Given the description of an element on the screen output the (x, y) to click on. 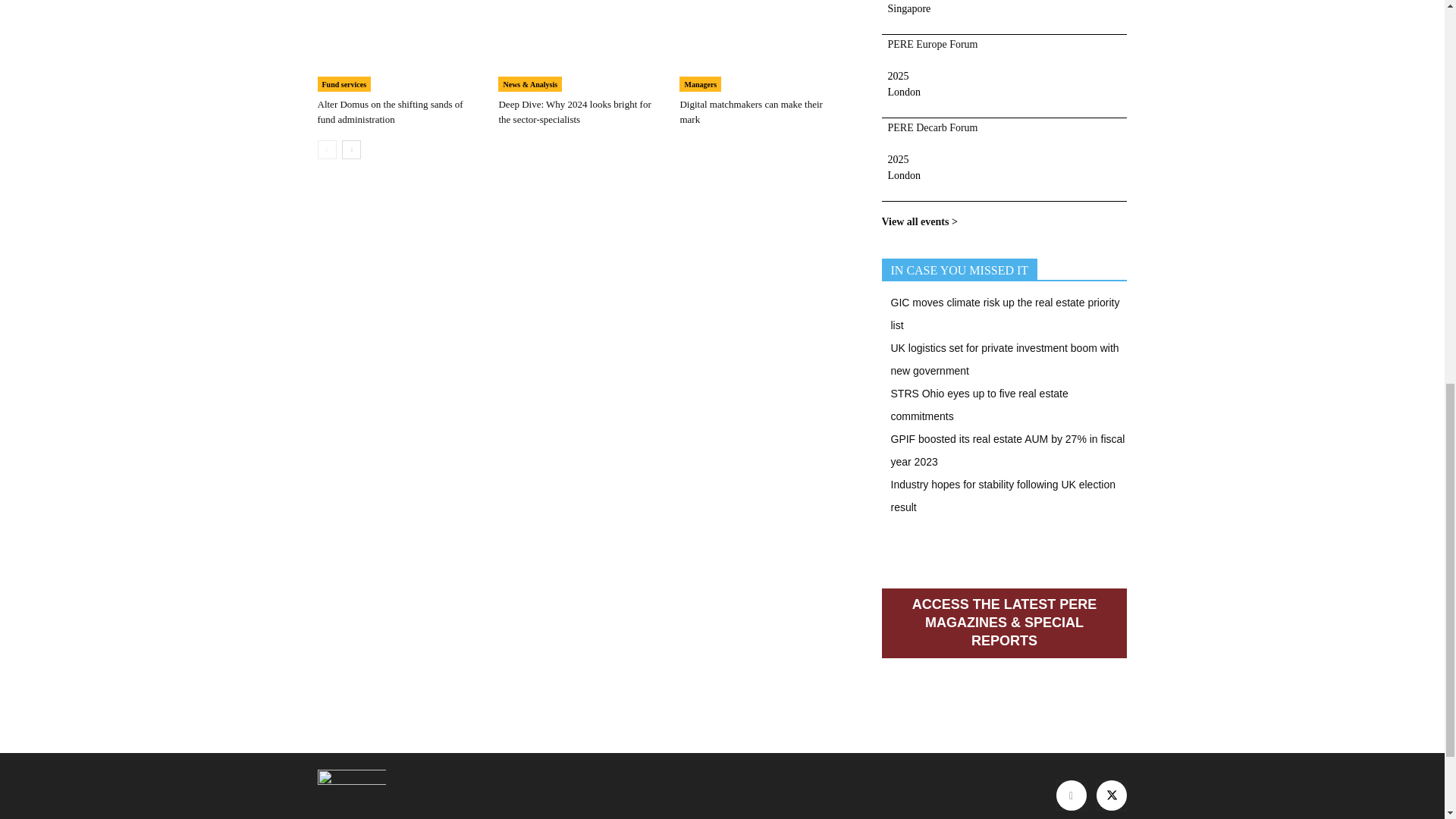
Deep Dive: Why 2024 looks bright for the sector-specialists (580, 45)
Alter Domus on the shifting sands of fund administration (399, 45)
Alter Domus on the shifting sands of fund administration (390, 111)
Digital matchmakers can make their mark (761, 45)
Digital matchmakers can make their mark (750, 111)
Twitter (1111, 795)
Deep Dive: Why 2024 looks bright for the sector-specialists (573, 111)
Linkedin (1071, 795)
